Given the description of an element on the screen output the (x, y) to click on. 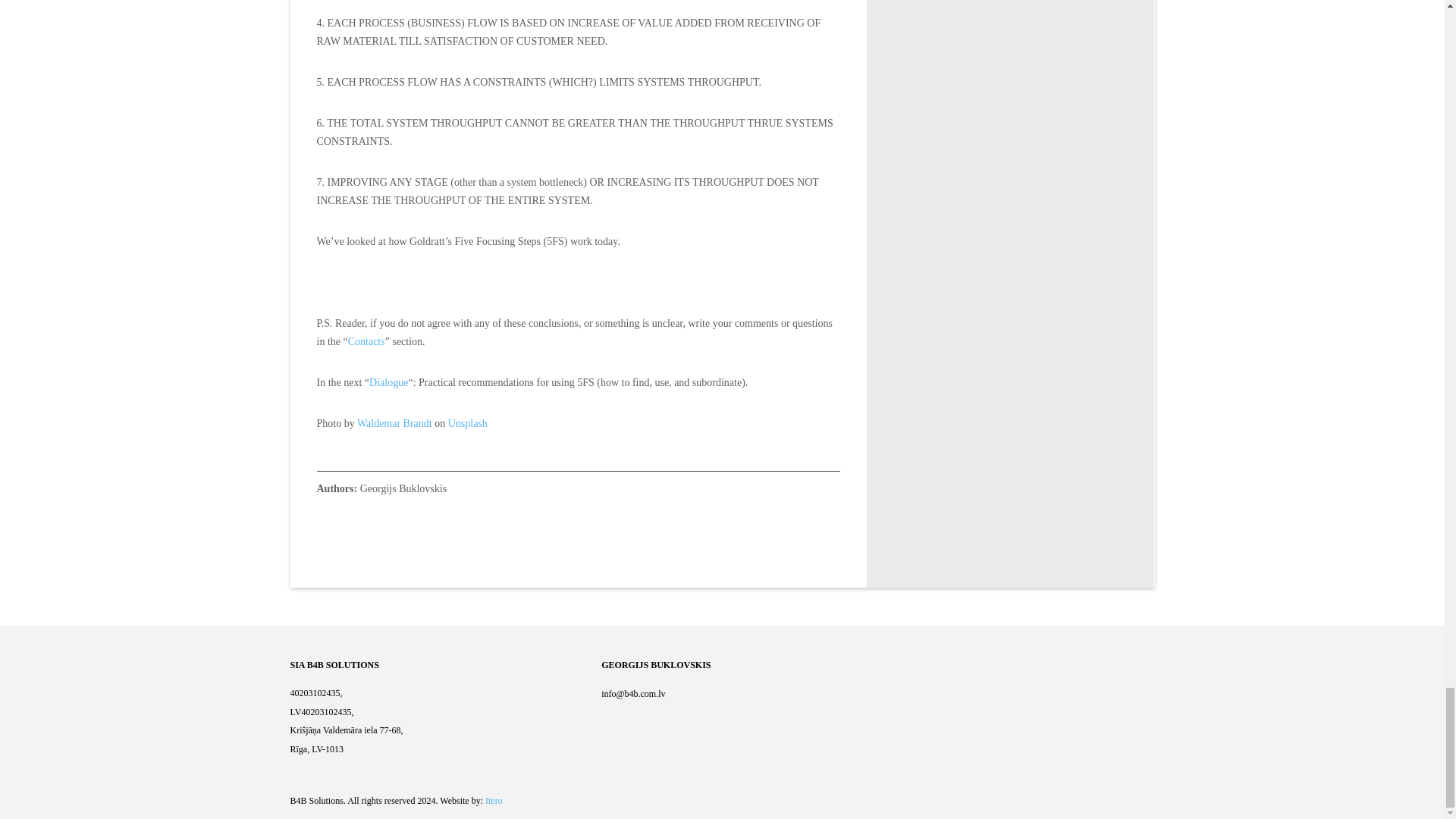
Unsplash (467, 423)
Itero (493, 800)
Contacts (366, 341)
Waldemar Brandt (394, 423)
Dialogue (388, 382)
